Given the description of an element on the screen output the (x, y) to click on. 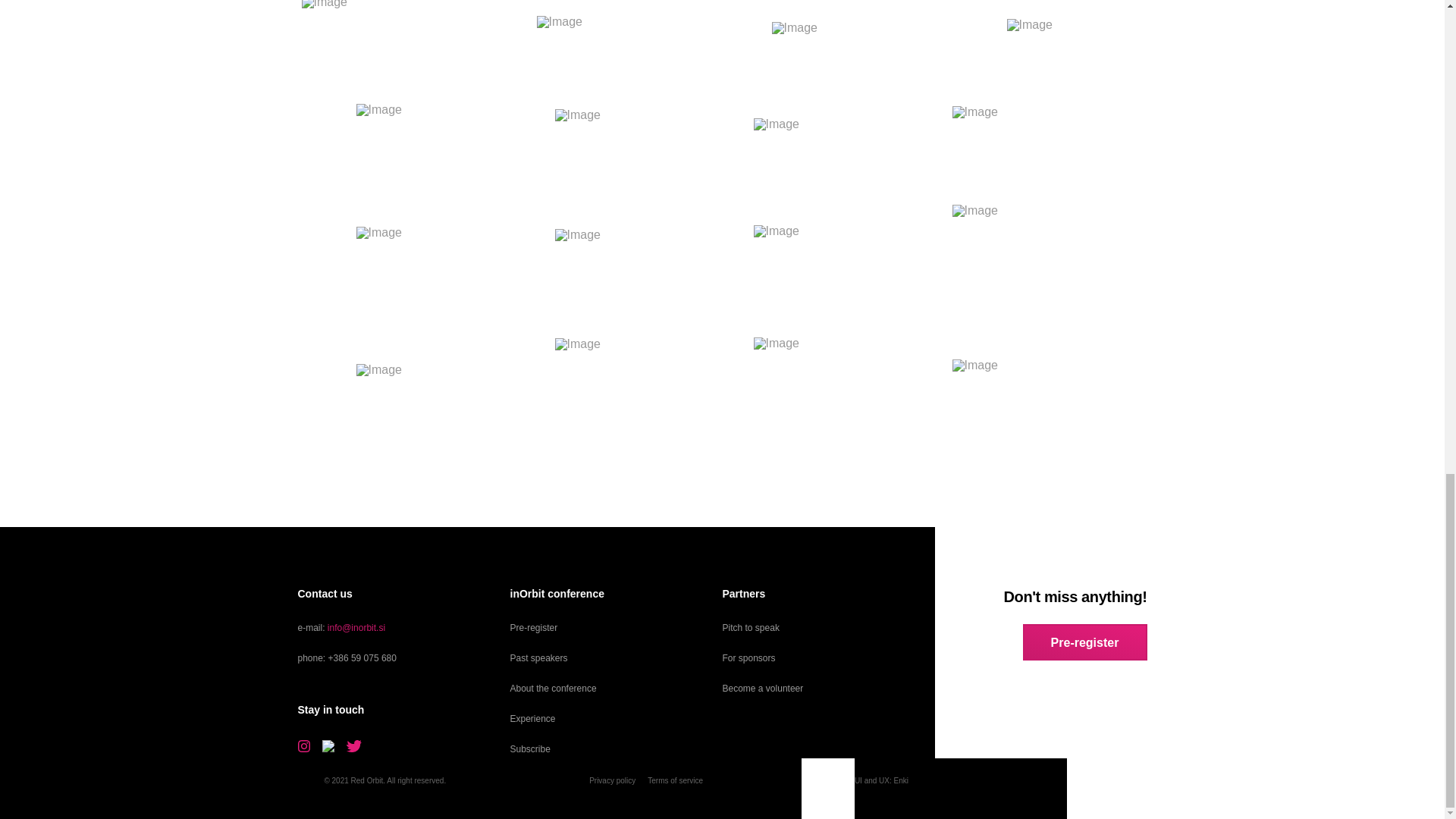
call inOrbit (362, 657)
Subscribe (529, 748)
contact inOrbit (356, 627)
volunteer at inOrbit (762, 688)
Past speakers (538, 657)
sponsor inOrbit (748, 657)
Pre-register (533, 627)
Pitch to speak (750, 627)
